Given the description of an element on the screen output the (x, y) to click on. 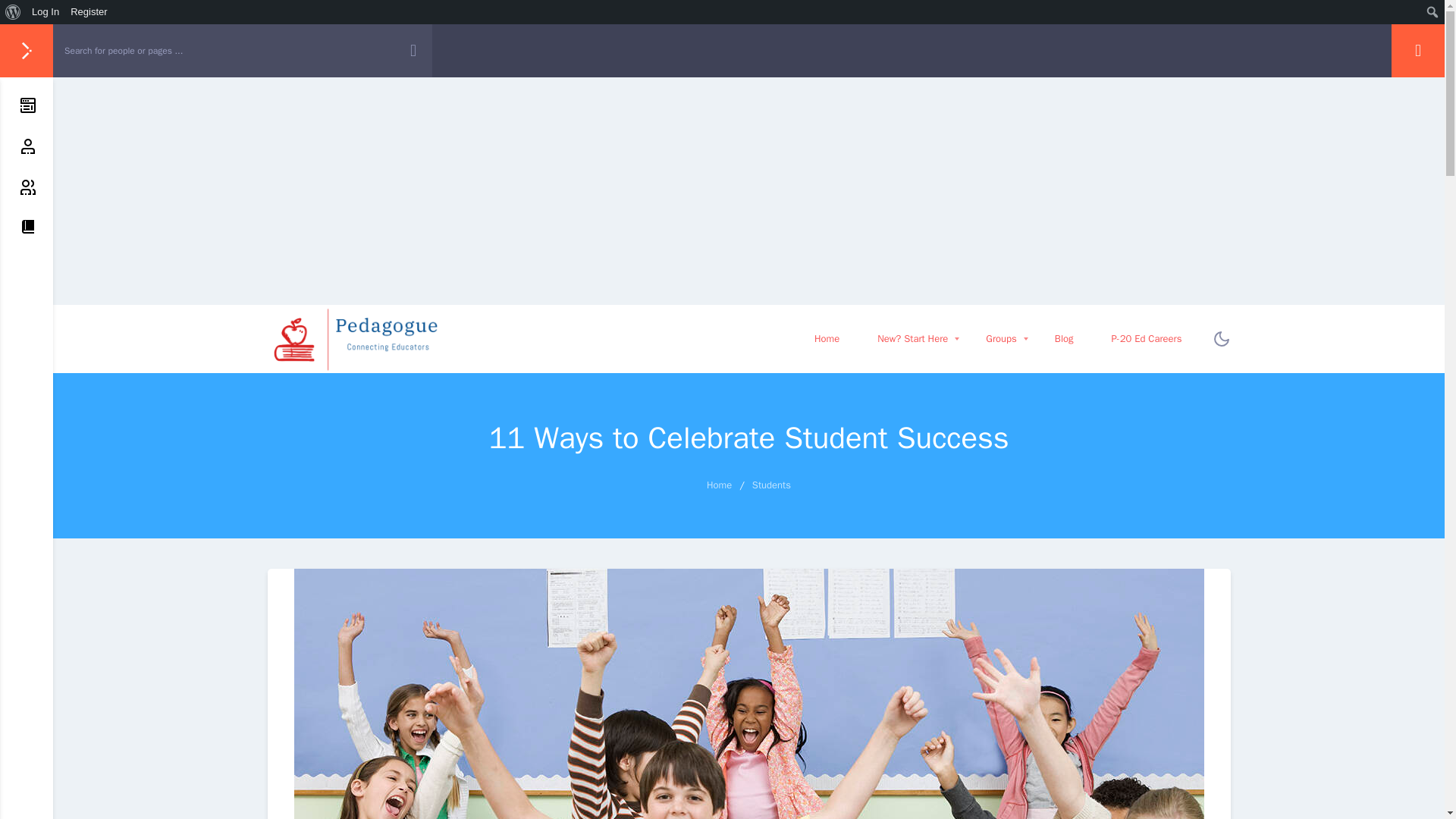
Log In (997, 338)
P-20 Ed Careers (45, 12)
Search (1147, 338)
Register (16, 12)
Students (89, 12)
Advertisement (771, 484)
Home (912, 338)
Groups (719, 484)
Home (1000, 338)
Blog (826, 338)
